Given the description of an element on the screen output the (x, y) to click on. 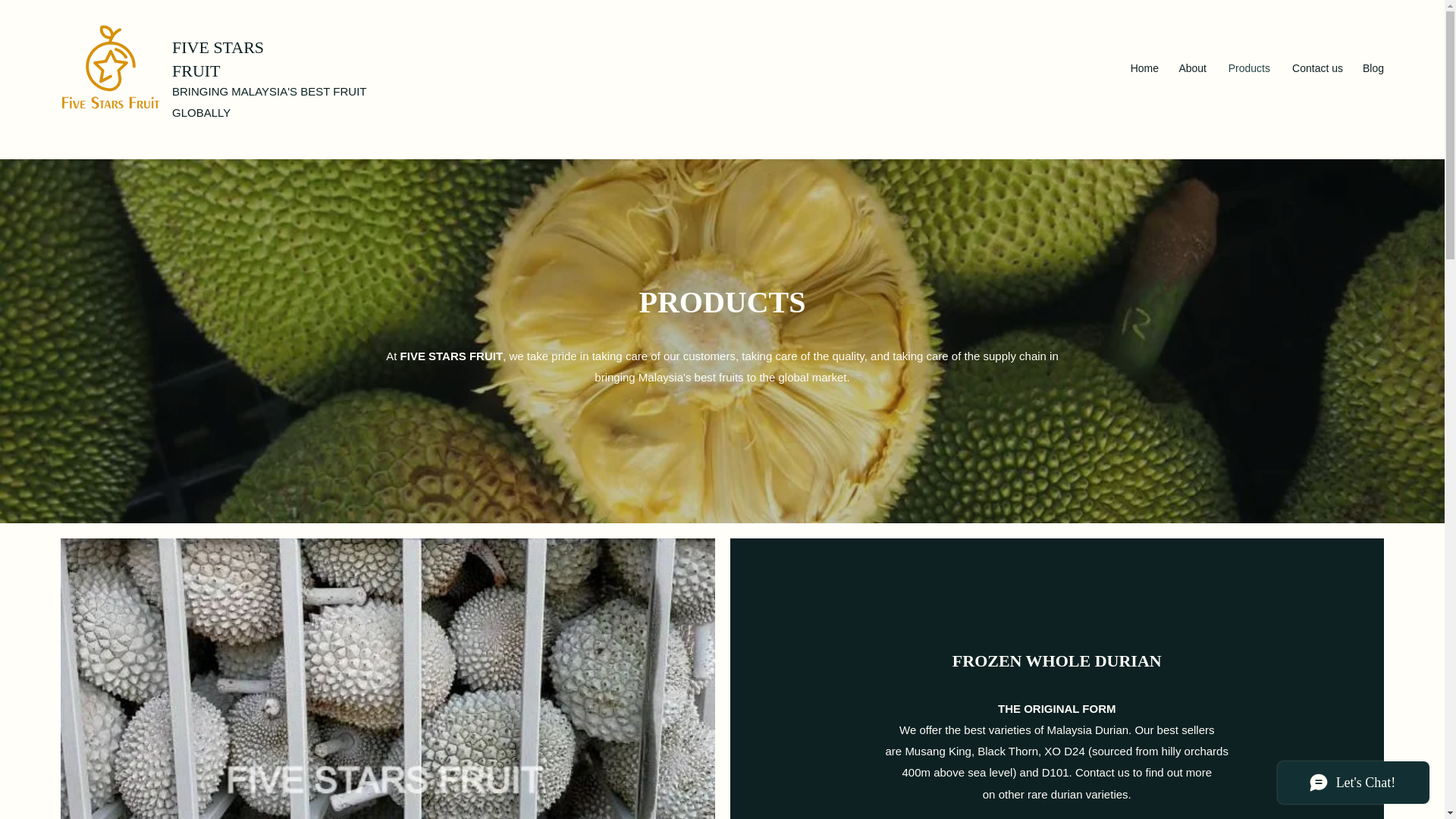
Contact us (1314, 67)
Home (1142, 67)
About (1190, 67)
Blog (1371, 67)
Products (1246, 67)
